Given the description of an element on the screen output the (x, y) to click on. 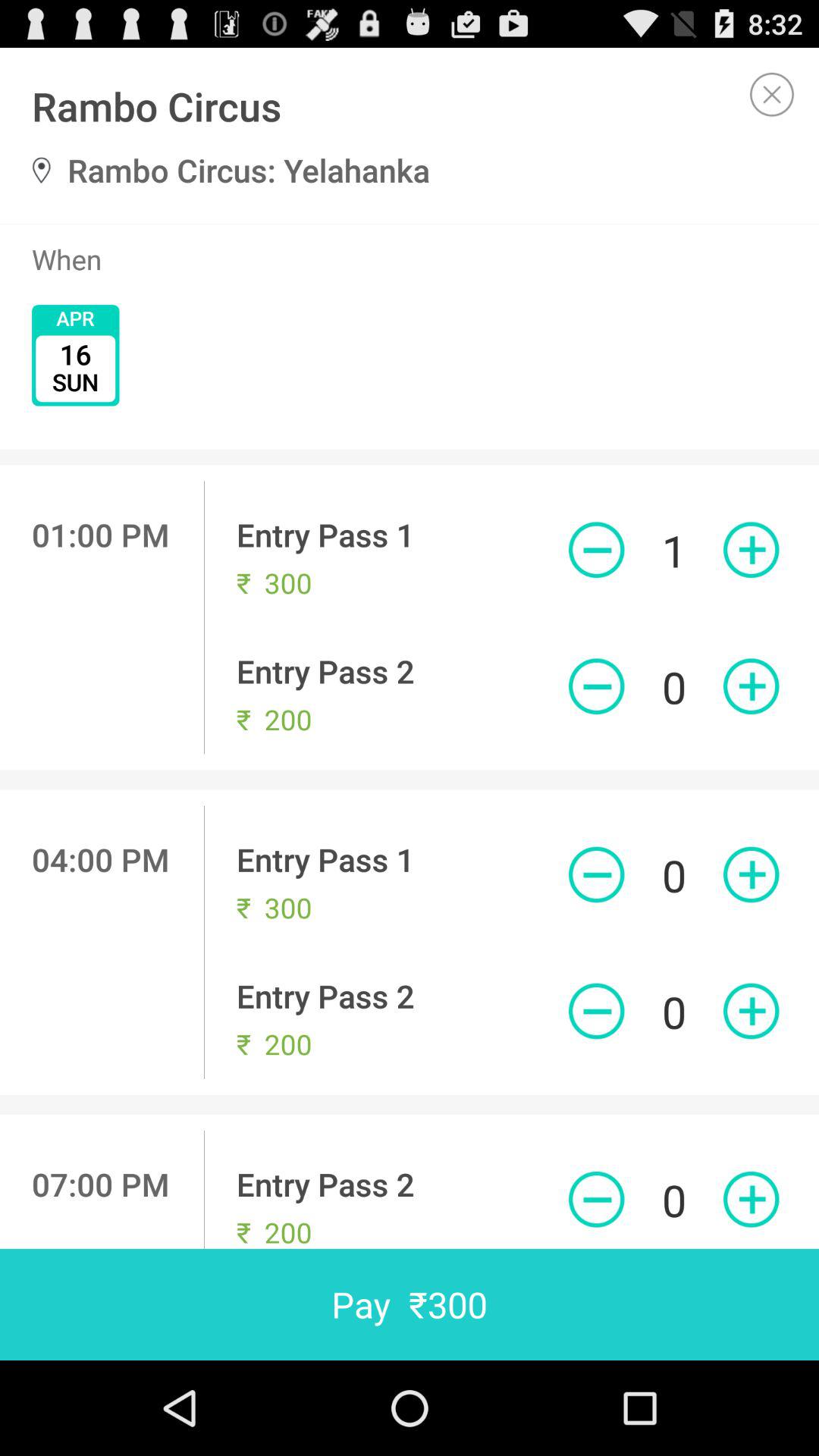
remove (596, 549)
